Given the description of an element on the screen output the (x, y) to click on. 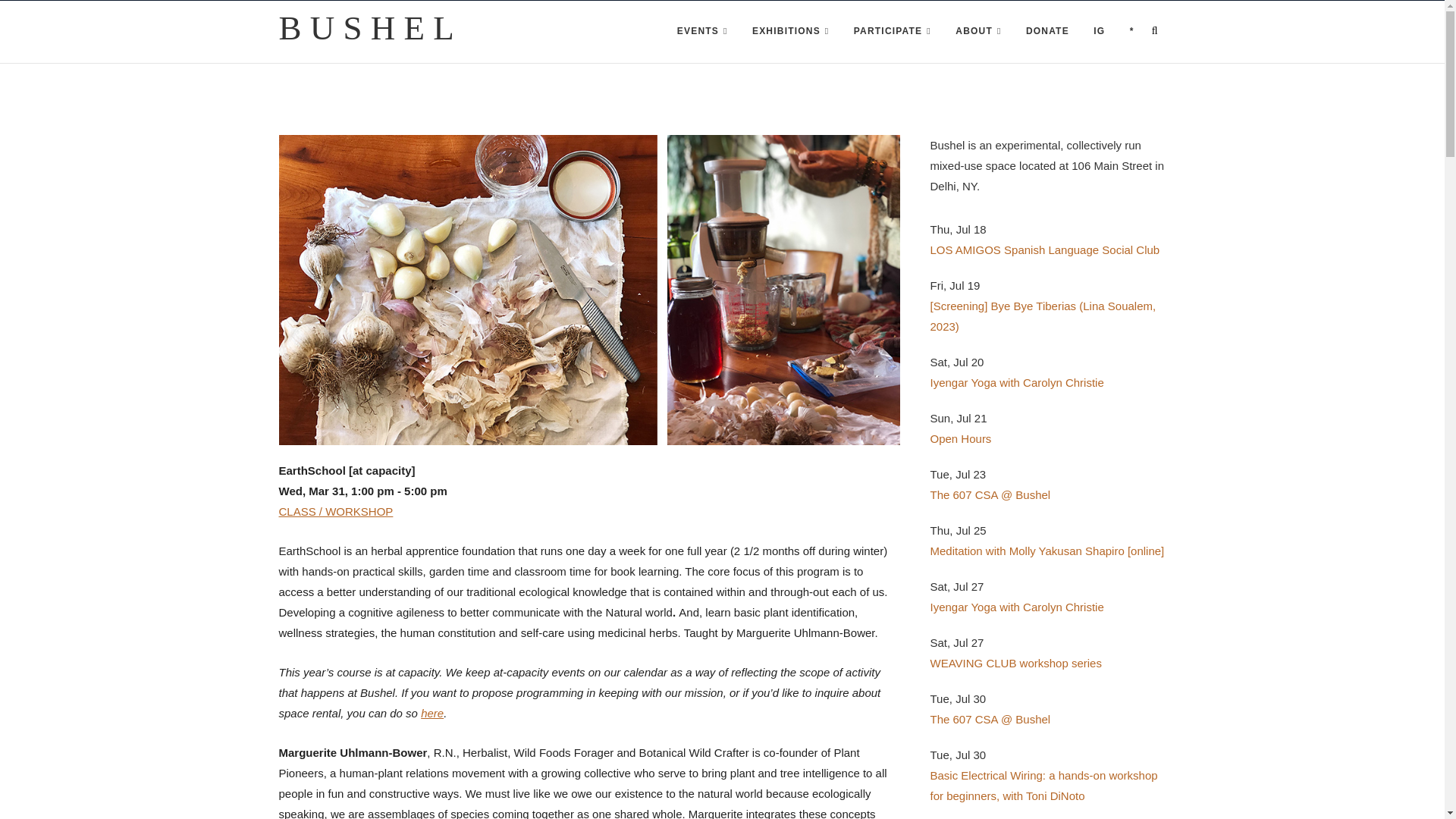
B U S H E L (366, 28)
DONATE (1047, 31)
EXHIBITIONS (790, 31)
EVENTS (702, 31)
ABOUT (978, 31)
PARTICIPATE (892, 31)
IG (1098, 31)
here (432, 712)
Open Hours (960, 438)
Iyengar Yoga with Carolyn Christie (1016, 382)
LOS AMIGOS Spanish Language Social Club (1044, 249)
B U S H E L (366, 28)
